Given the description of an element on the screen output the (x, y) to click on. 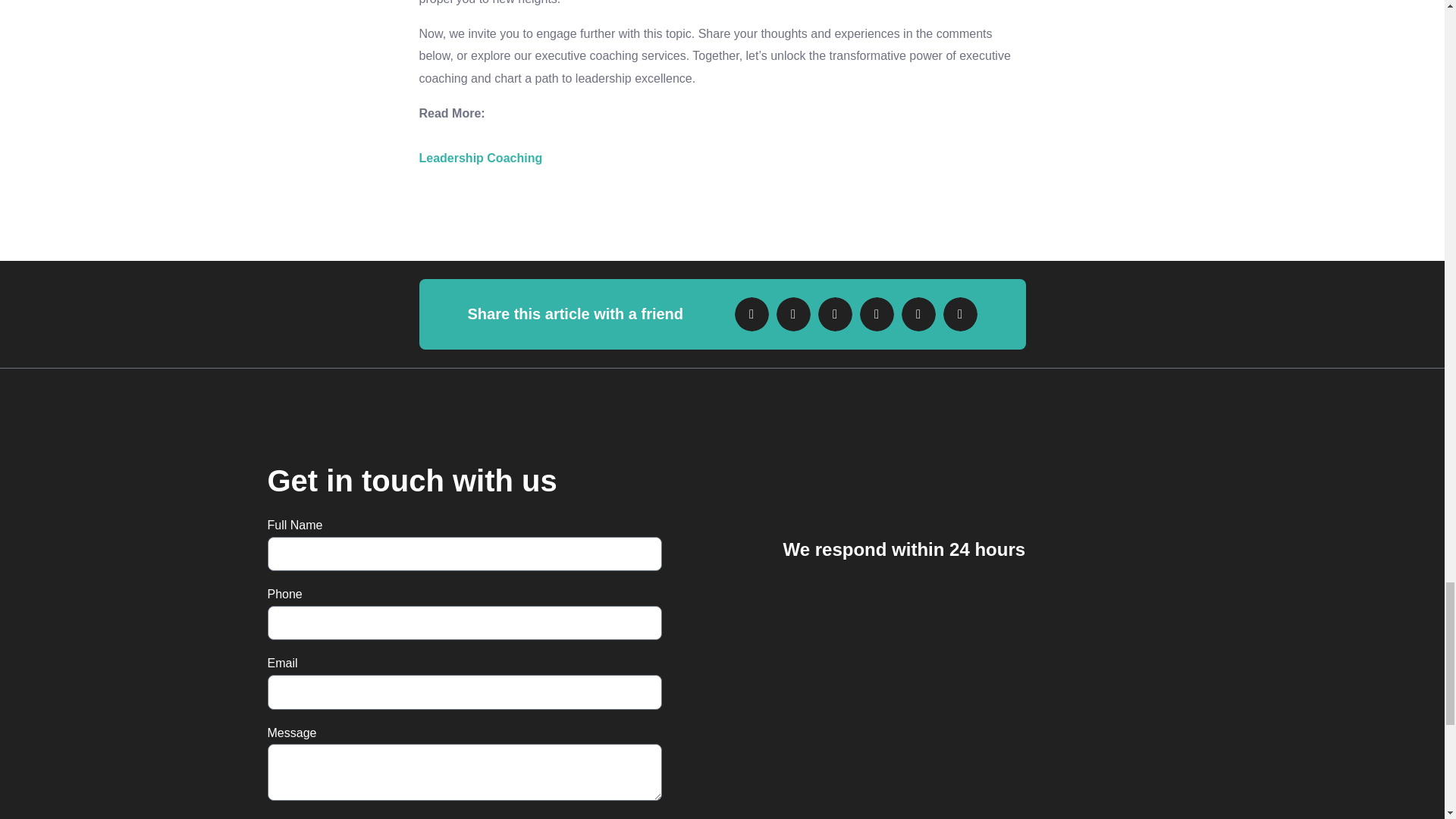
Leadership Coaching (480, 157)
